Given the description of an element on the screen output the (x, y) to click on. 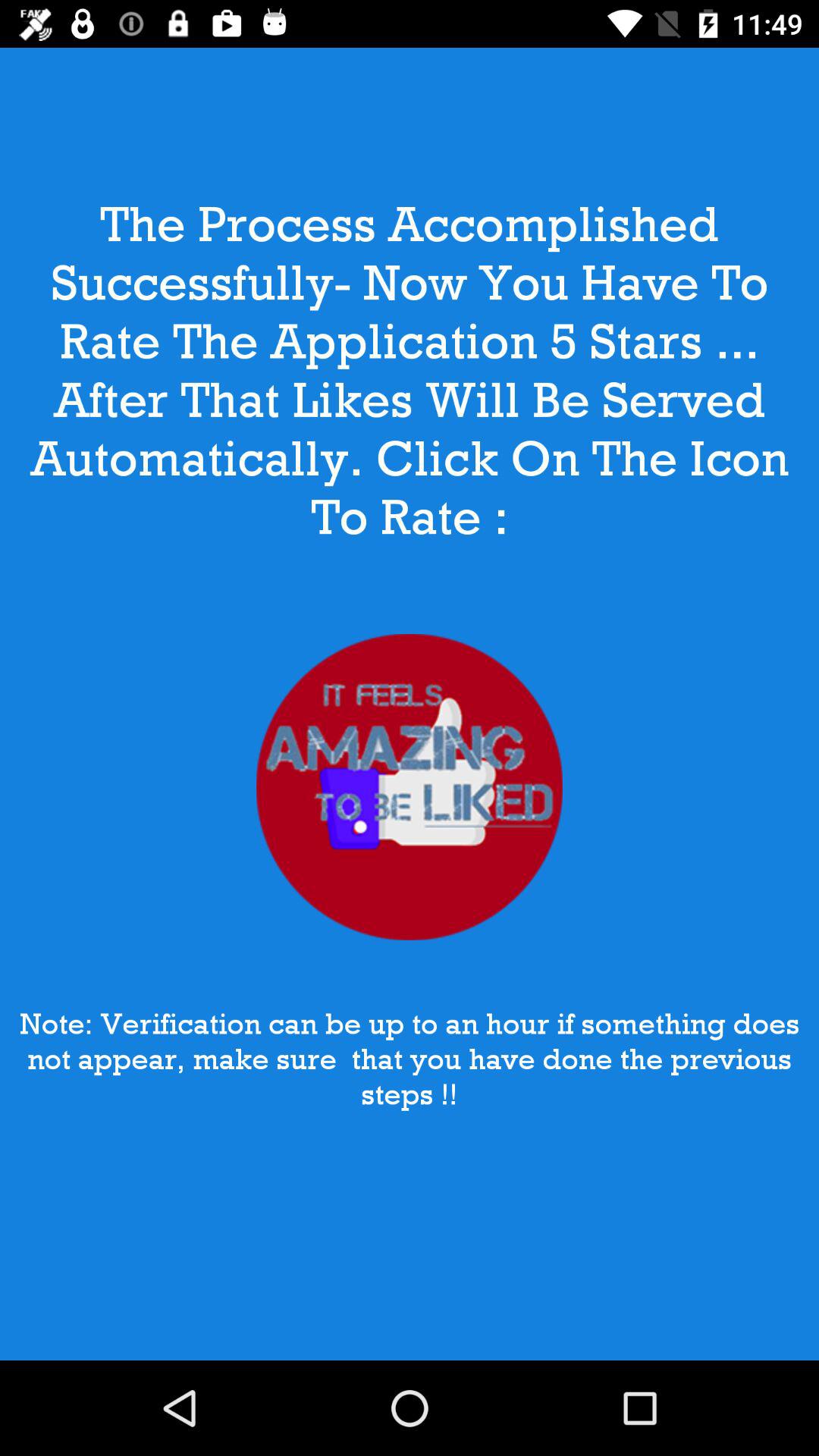
tap item at the center (409, 787)
